Given the description of an element on the screen output the (x, y) to click on. 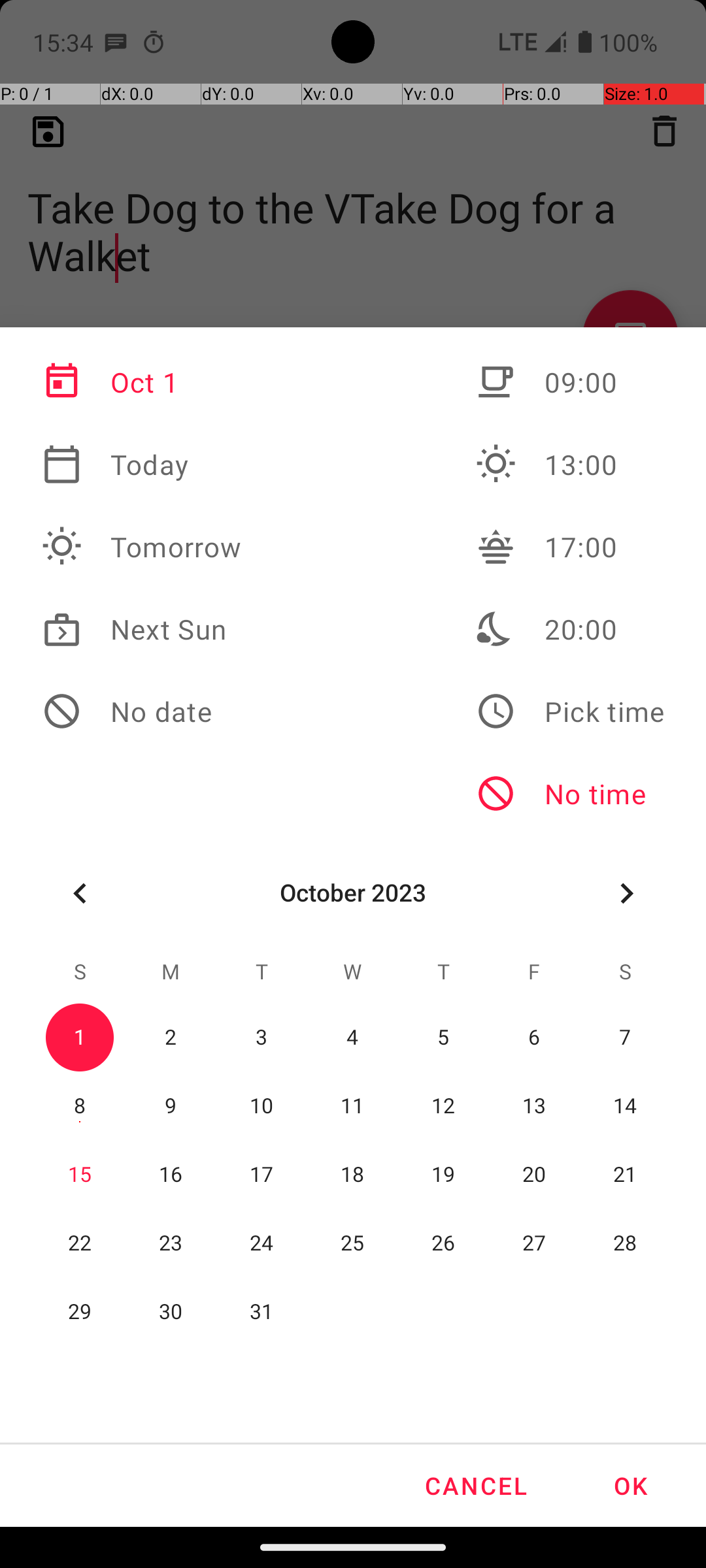
Oct 1 Element type: android.widget.CompoundButton (141, 382)
